Given the description of an element on the screen output the (x, y) to click on. 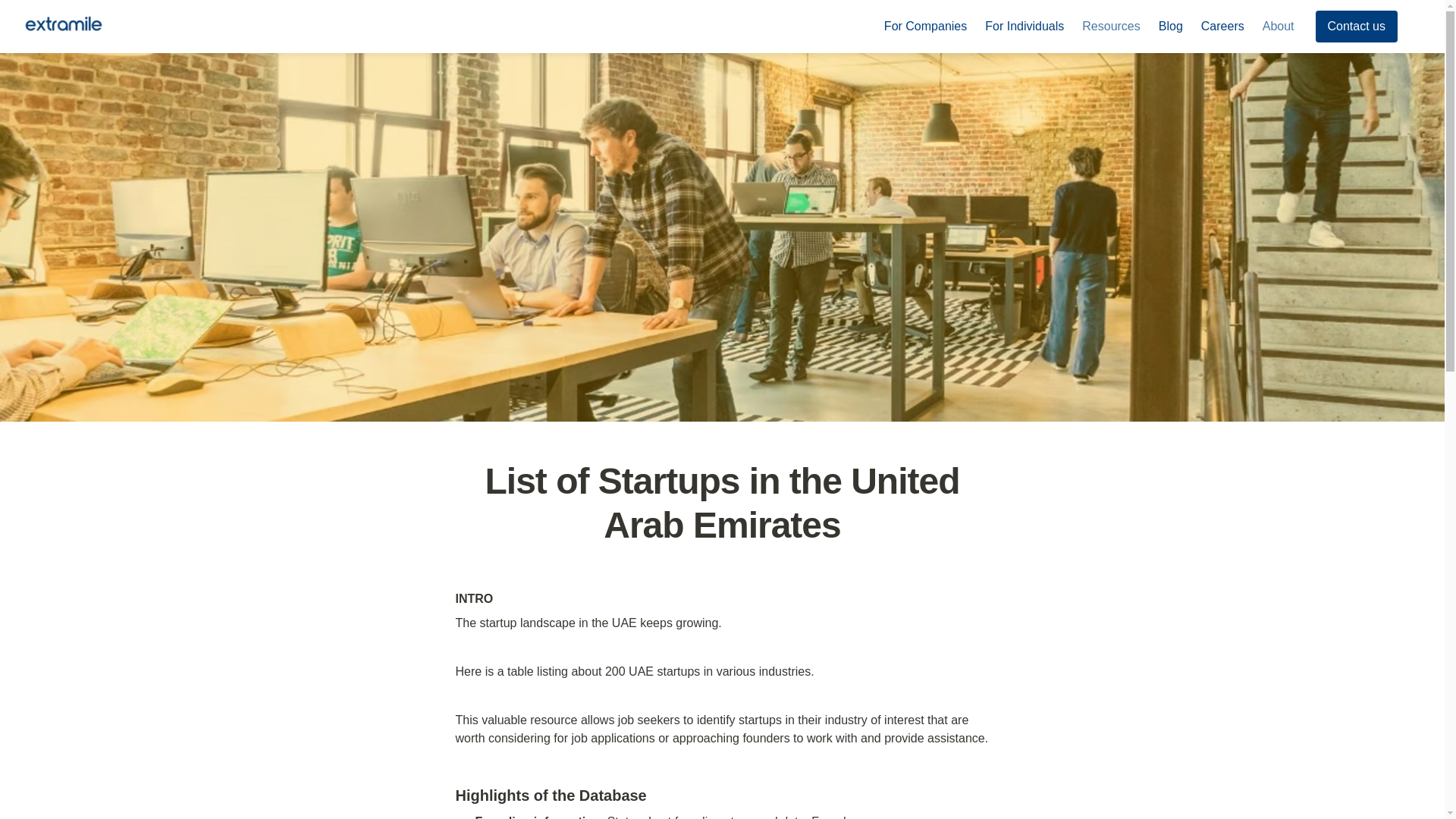
Blog (1171, 26)
Resources (1110, 26)
Careers (1222, 26)
About (1278, 26)
Contact us (1359, 26)
For Companies (925, 26)
For Individuals (1024, 26)
